Given the description of an element on the screen output the (x, y) to click on. 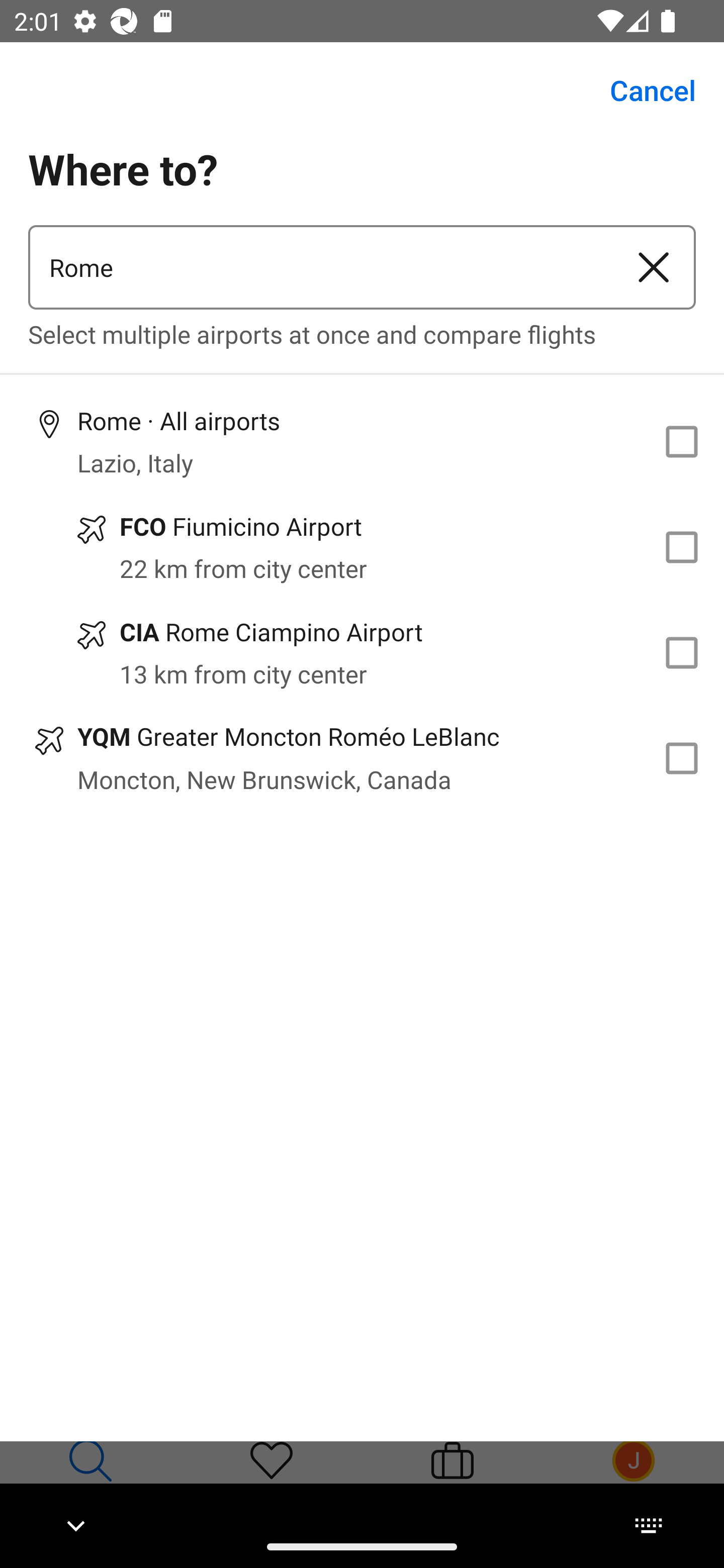
Cancel (641, 90)
Rome (319, 266)
Clear airport or city (653, 266)
Rome · All airports Lazio, Italy (362, 440)
FCO Fiumicino Airport 22 km from city center (362, 547)
CIA Rome Ciampino Airport 13 km from city center (362, 652)
